Given the description of an element on the screen output the (x, y) to click on. 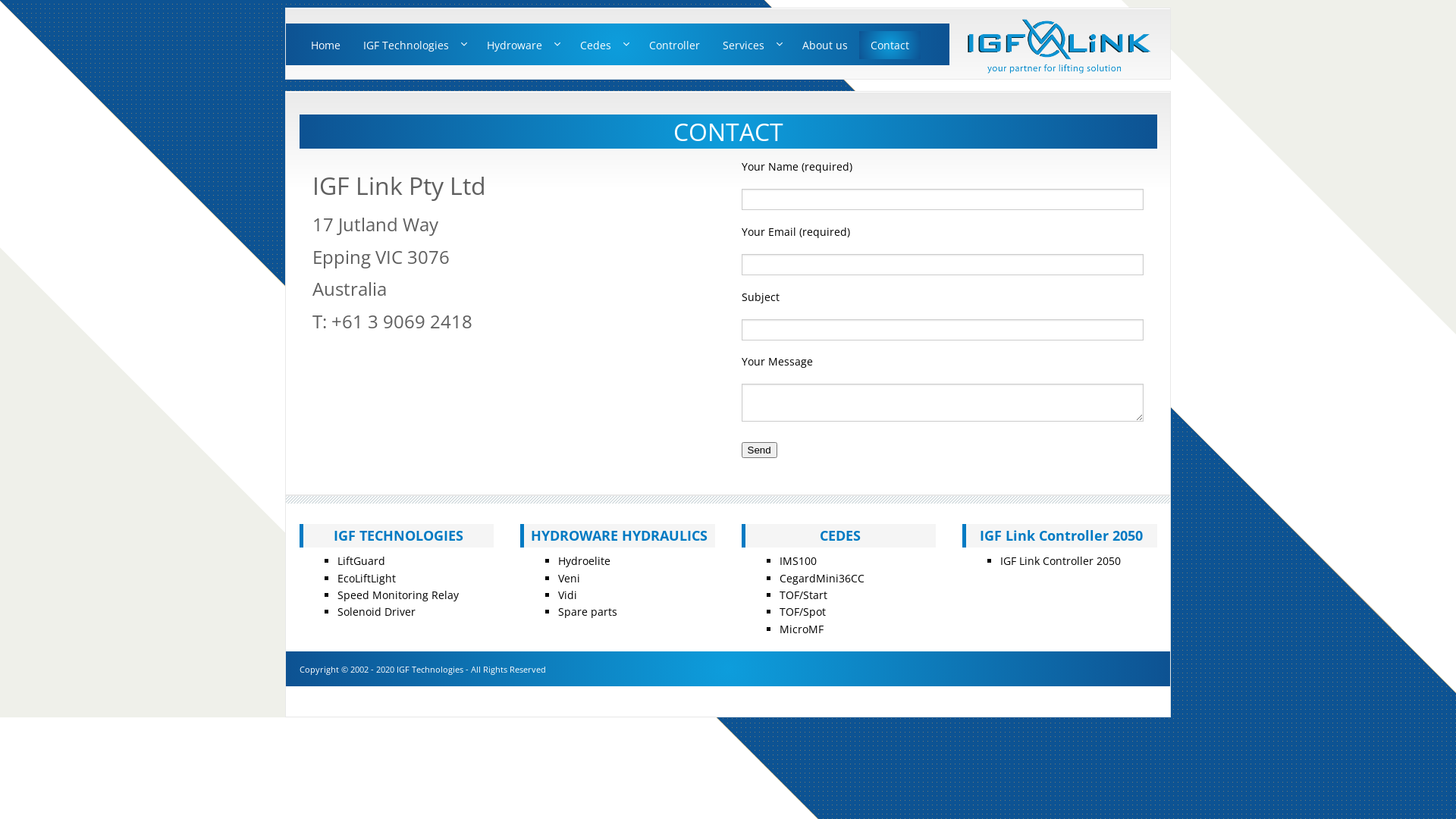
Vidi Element type: text (567, 594)
Send Element type: text (759, 450)
TOF/Spot Element type: text (802, 611)
Veni Element type: text (569, 578)
About us Element type: text (824, 45)
Solenoid Driver Element type: text (375, 611)
Cedes Element type: text (602, 45)
Spare parts Element type: text (587, 611)
Scroll Element type: text (706, 633)
Contact Element type: text (888, 45)
Speed Monitoring Relay Element type: text (397, 594)
LiftGuard Element type: text (360, 560)
Services Element type: text (750, 45)
IMS100 Element type: text (797, 560)
TOF/Start Element type: text (803, 594)
EcoLiftLight Element type: text (365, 578)
Controller Element type: text (673, 45)
IGF Technologies Element type: text (413, 45)
MicroMF Element type: text (801, 628)
IGF Link Controller 2050 Element type: text (1060, 560)
Hydroelite Element type: text (584, 560)
Home Element type: text (324, 45)
Hydroware Element type: text (520, 45)
CegardMini36CC Element type: text (821, 578)
